Given the description of an element on the screen output the (x, y) to click on. 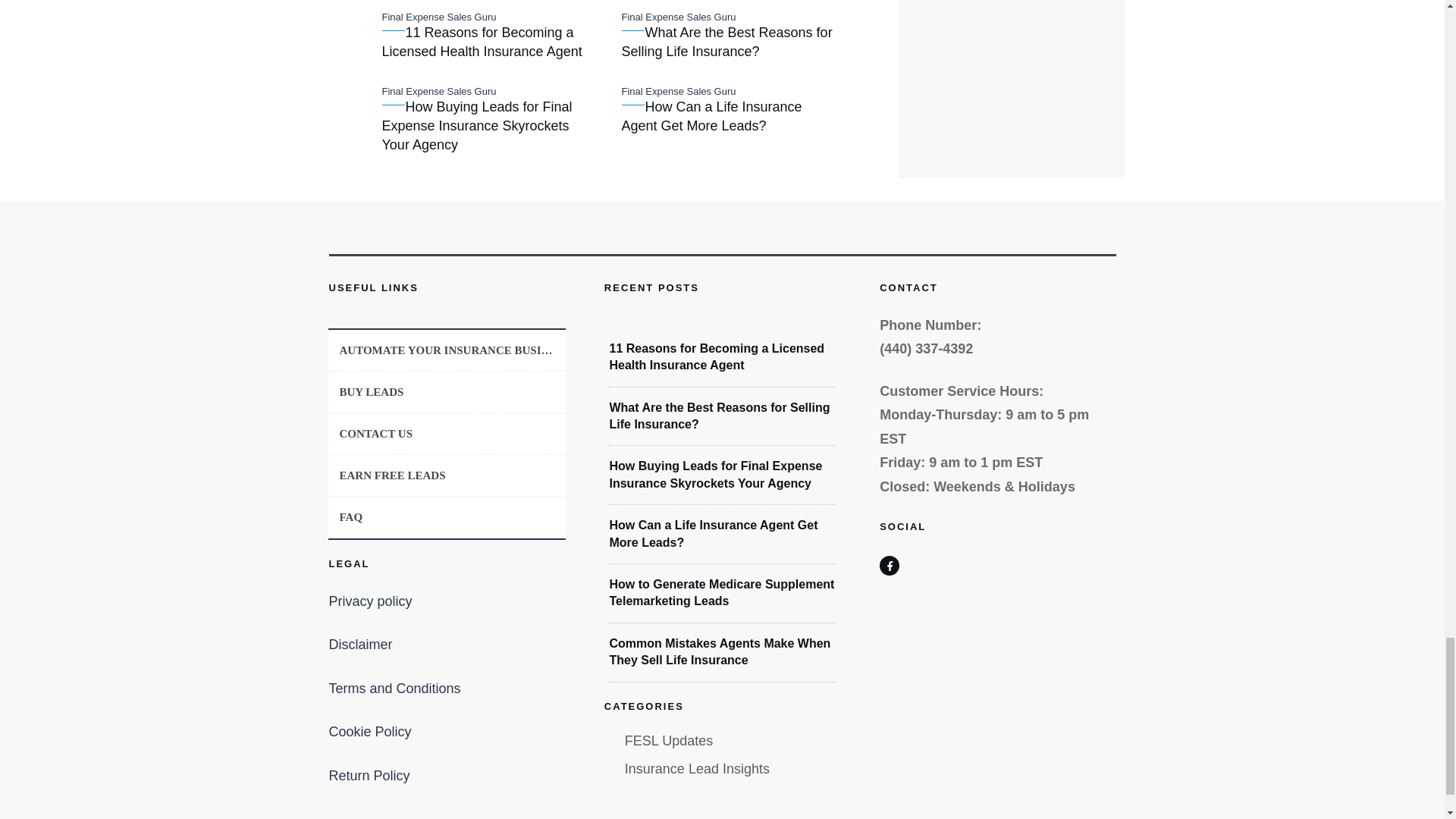
Final Expense Sales Guru (678, 91)
Final Expense Sales Guru (438, 16)
What Are the Best Reasons for Selling Life Insurance? (726, 41)
11 Reasons for Becoming a Licensed Health Insurance Agent (481, 41)
How to Generate Medicare Supplement Telemarketing Leads (721, 592)
How Can a Life Insurance Agent Get More Leads? (711, 116)
11 Reasons for Becoming a Licensed Health Insurance Agent (716, 356)
What Are the Best Reasons for Selling Life Insurance? (718, 415)
How Can a Life Insurance Agent Get More Leads? (712, 532)
Final Expense Sales Guru (438, 16)
